Given the description of an element on the screen output the (x, y) to click on. 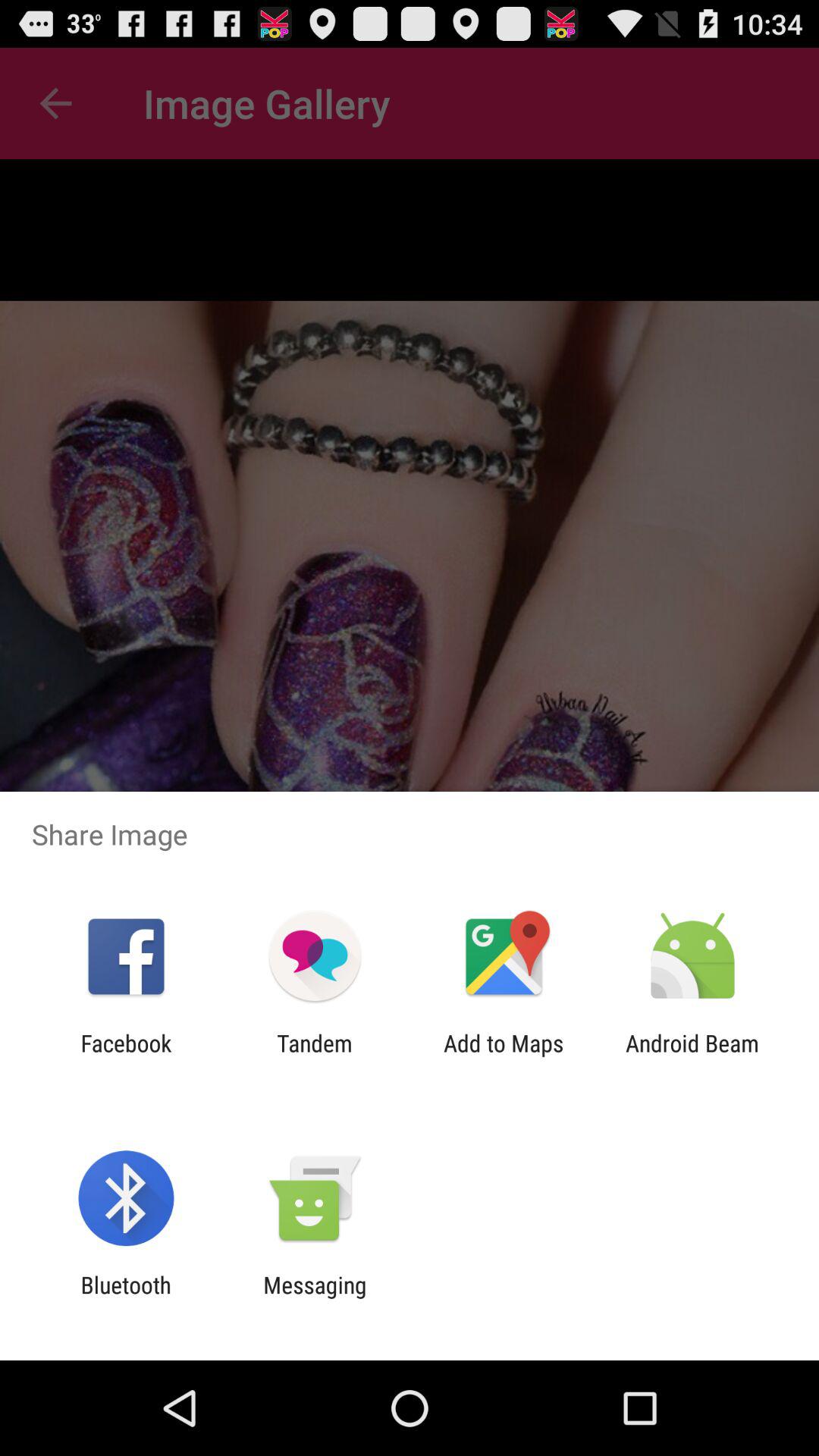
click the app to the right of tandem app (503, 1056)
